Given the description of an element on the screen output the (x, y) to click on. 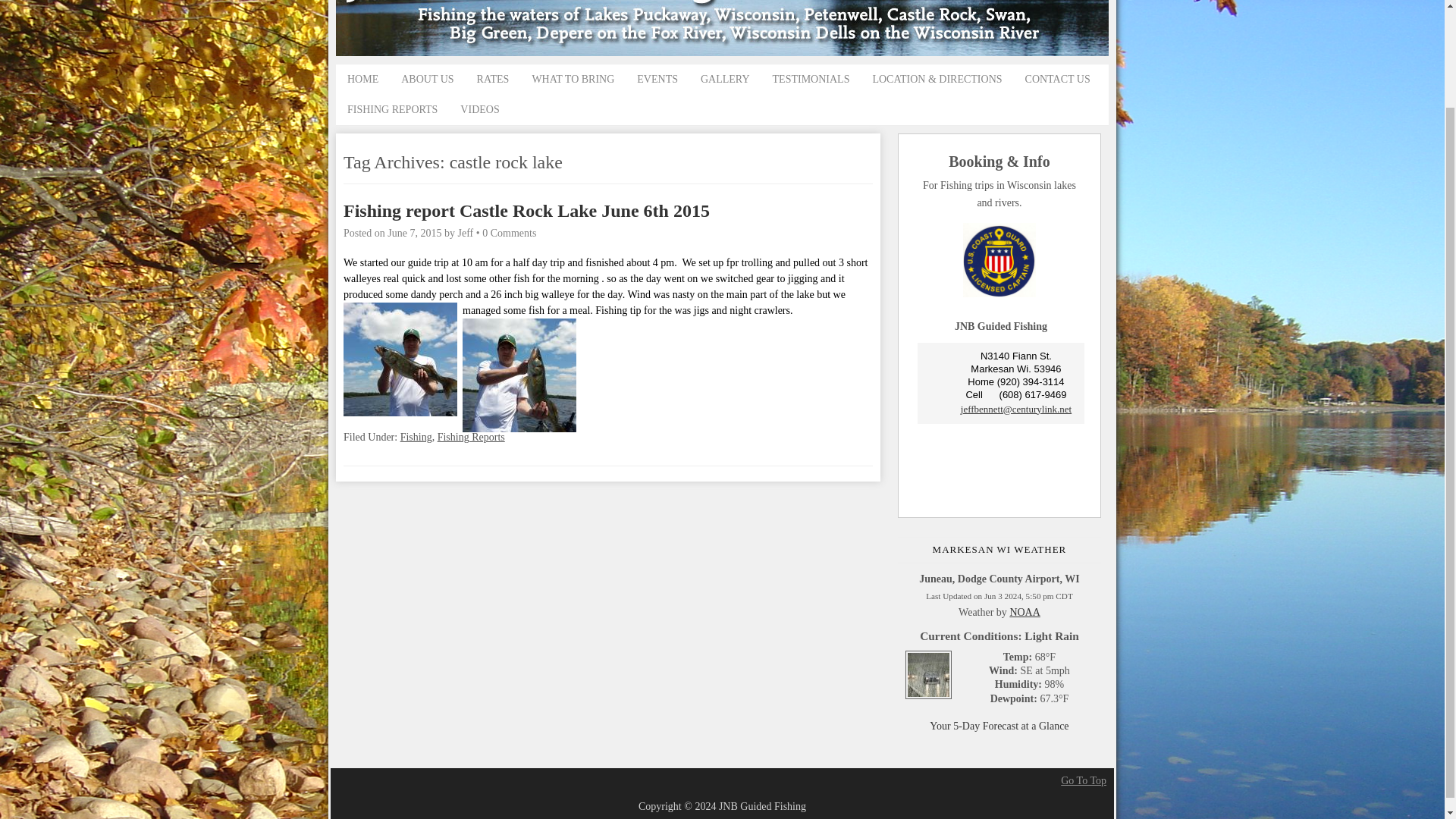
NOAA's National Weather Service (1024, 612)
Go To Top (1083, 780)
0 Comments (508, 233)
Fishing (416, 437)
View all posts by Jeff (466, 233)
Fishing report Castle Rock Lake June 6th 2015 (526, 210)
CONTACT US (1057, 79)
FISHING REPORTS (392, 110)
EVENTS (657, 79)
GALLERY (724, 79)
